Given the description of an element on the screen output the (x, y) to click on. 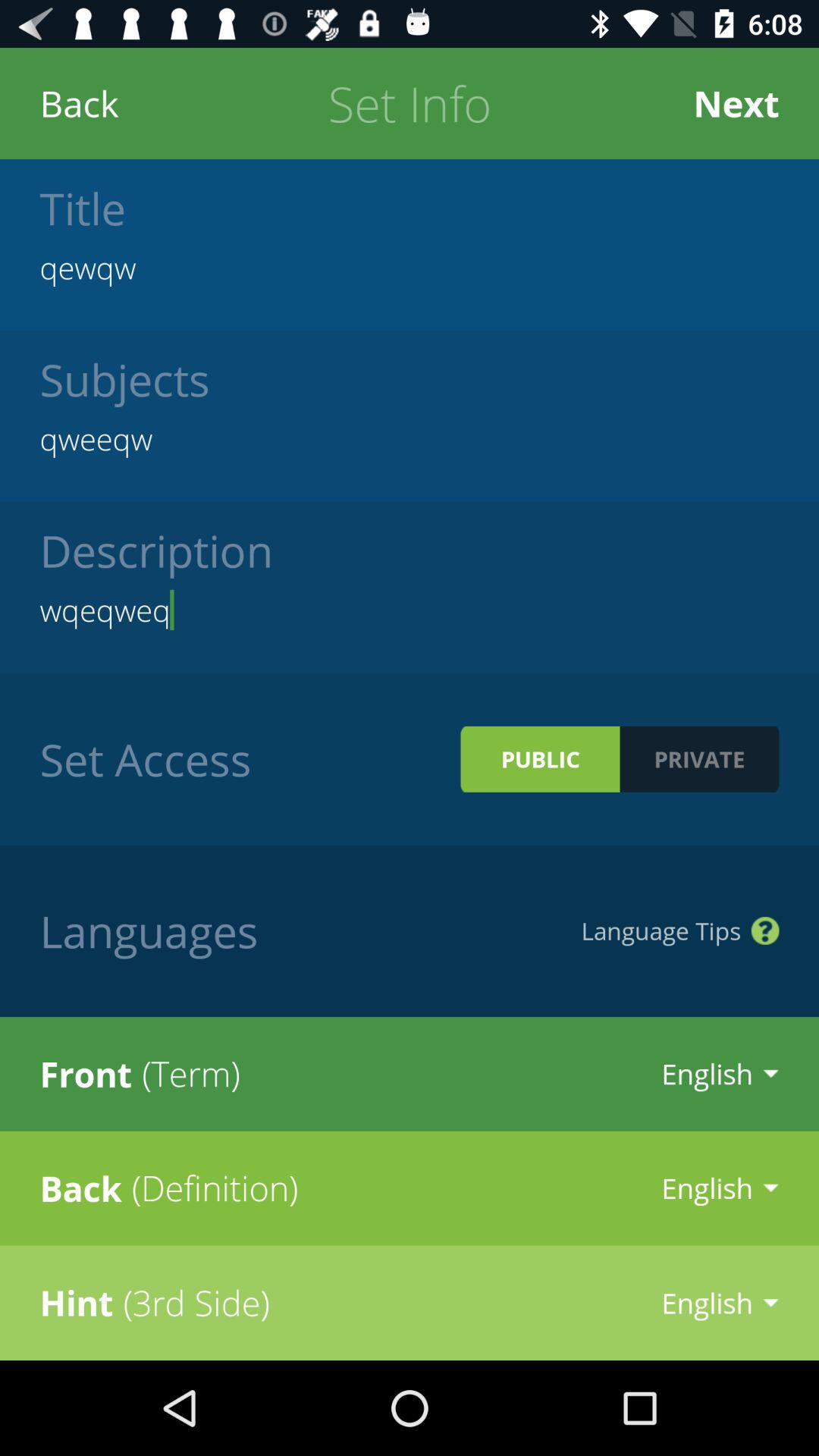
open the item below the wqeqweq (699, 759)
